Given the description of an element on the screen output the (x, y) to click on. 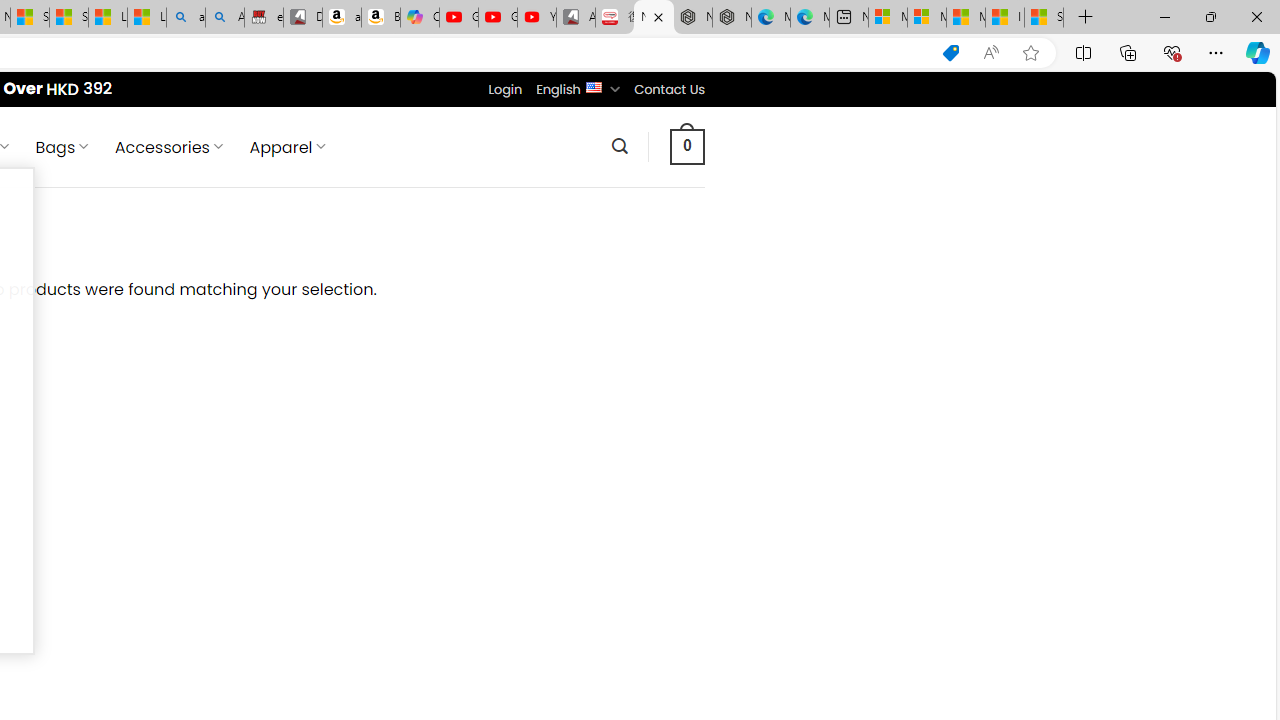
YouTube Kids - An App Created for Kids to Explore Content (536, 17)
This site has coupons! Shopping in Microsoft Edge (950, 53)
Contact Us (669, 89)
amazon - Search (185, 17)
Browser essentials (1171, 52)
Gloom - YouTube (497, 17)
Read aloud this page (Ctrl+Shift+U) (991, 53)
Add this page to favorites (Ctrl+D) (1030, 53)
Copilot (419, 17)
